Given the description of an element on the screen output the (x, y) to click on. 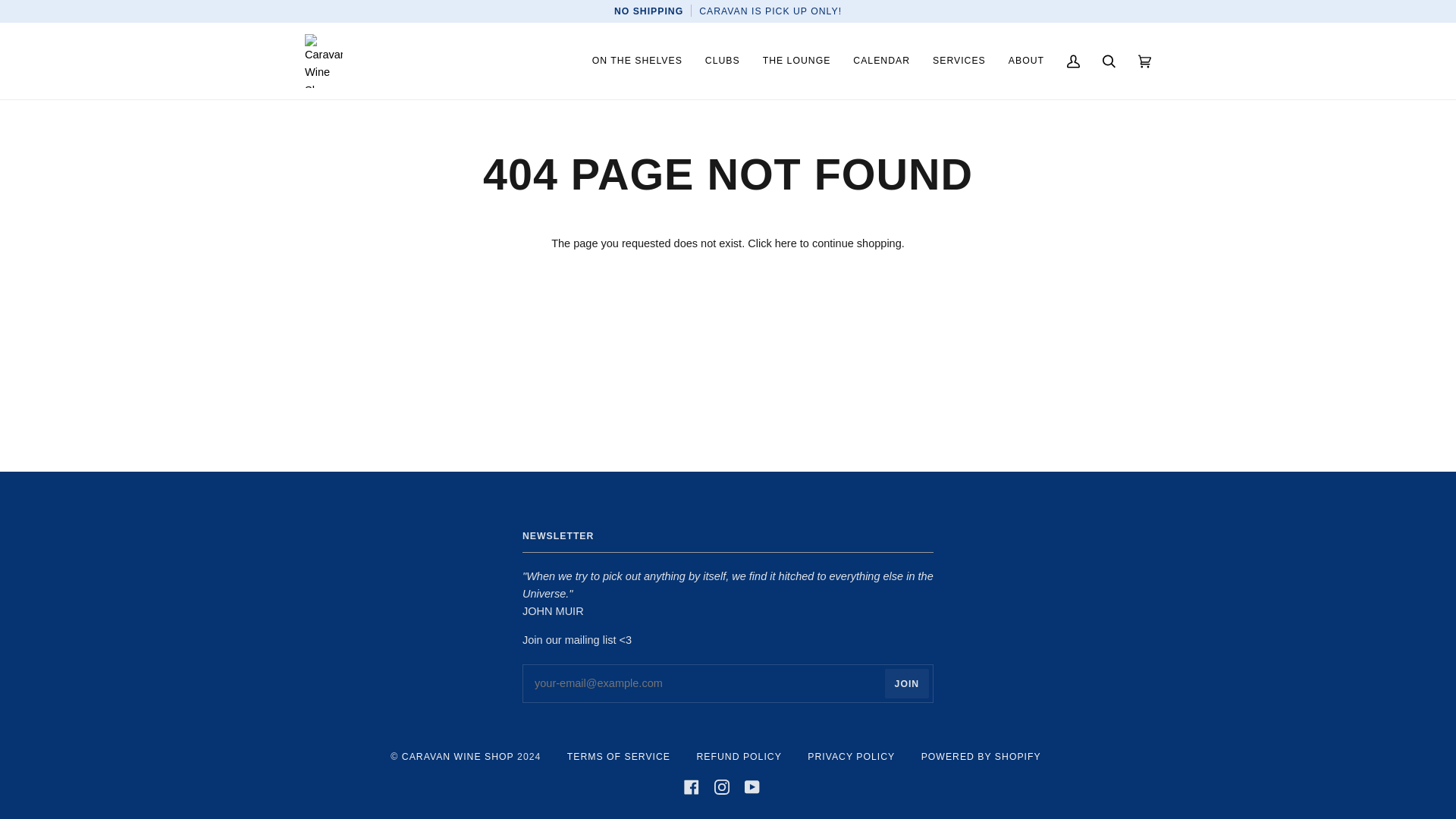
THE LOUNGE (797, 60)
CALENDAR (881, 60)
YouTube (752, 787)
Facebook (691, 787)
ON THE SHELVES (637, 60)
Instagram (721, 787)
SERVICES (959, 60)
